Given the description of an element on the screen output the (x, y) to click on. 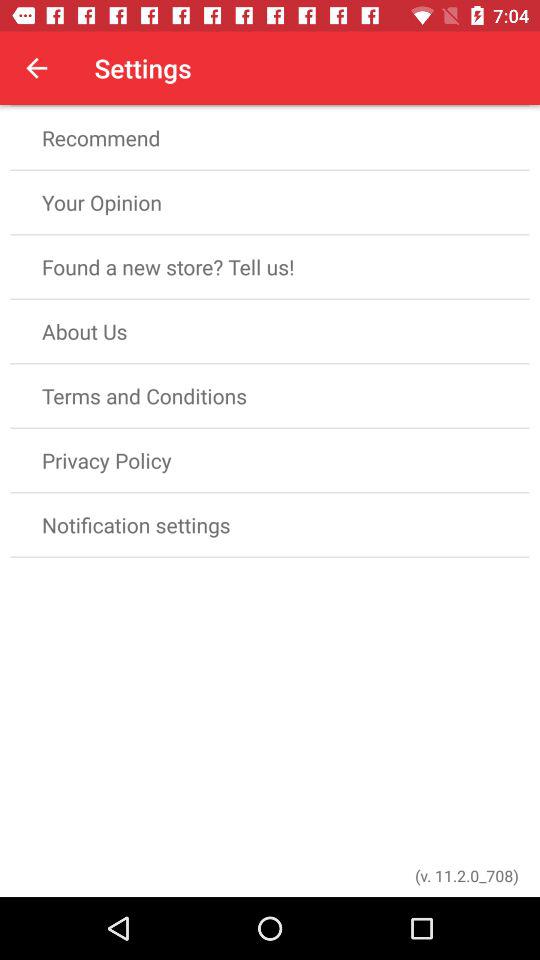
open found a new (269, 266)
